Given the description of an element on the screen output the (x, y) to click on. 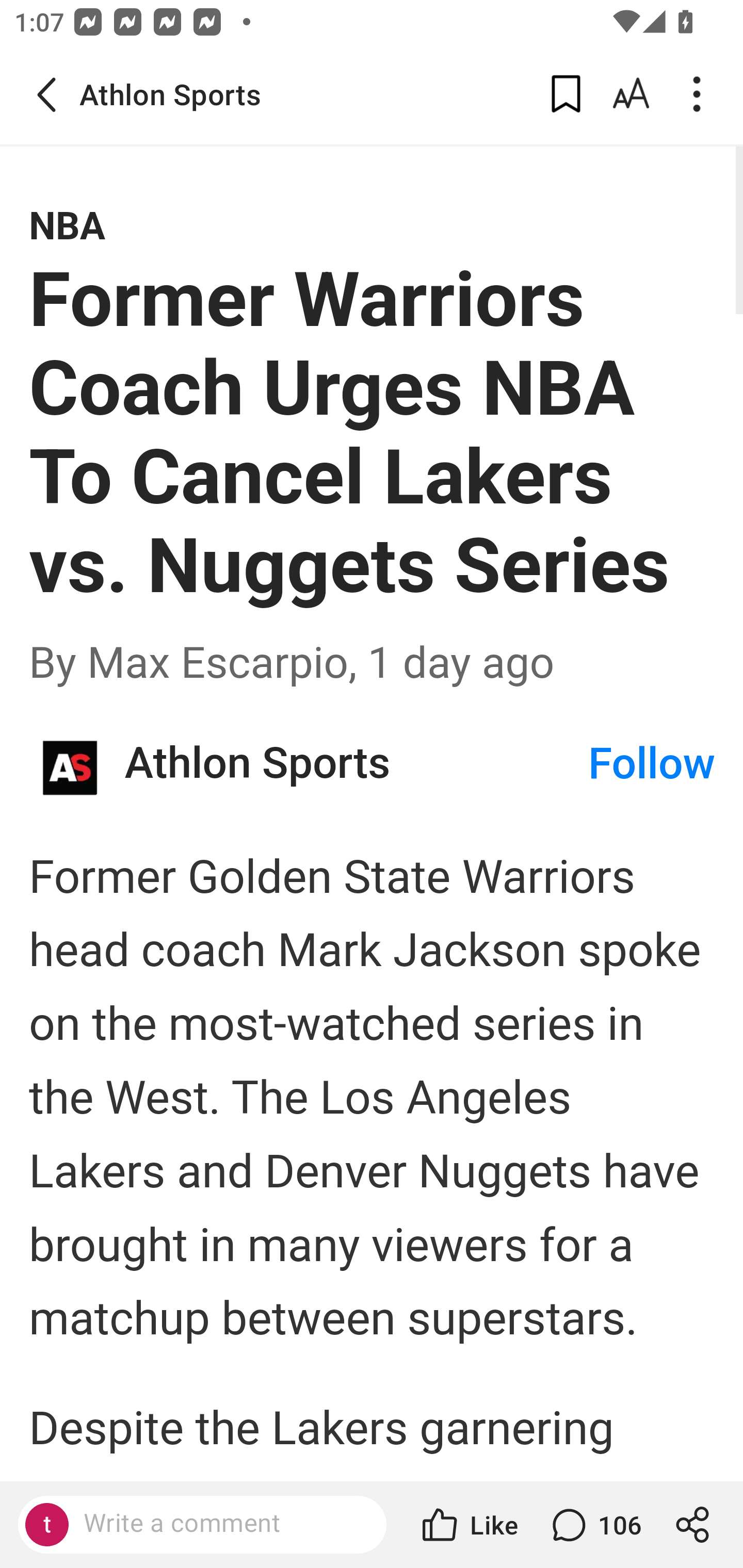
Like (468, 1524)
106 (594, 1524)
Write a comment (201, 1524)
Write a comment (219, 1523)
